Given the description of an element on the screen output the (x, y) to click on. 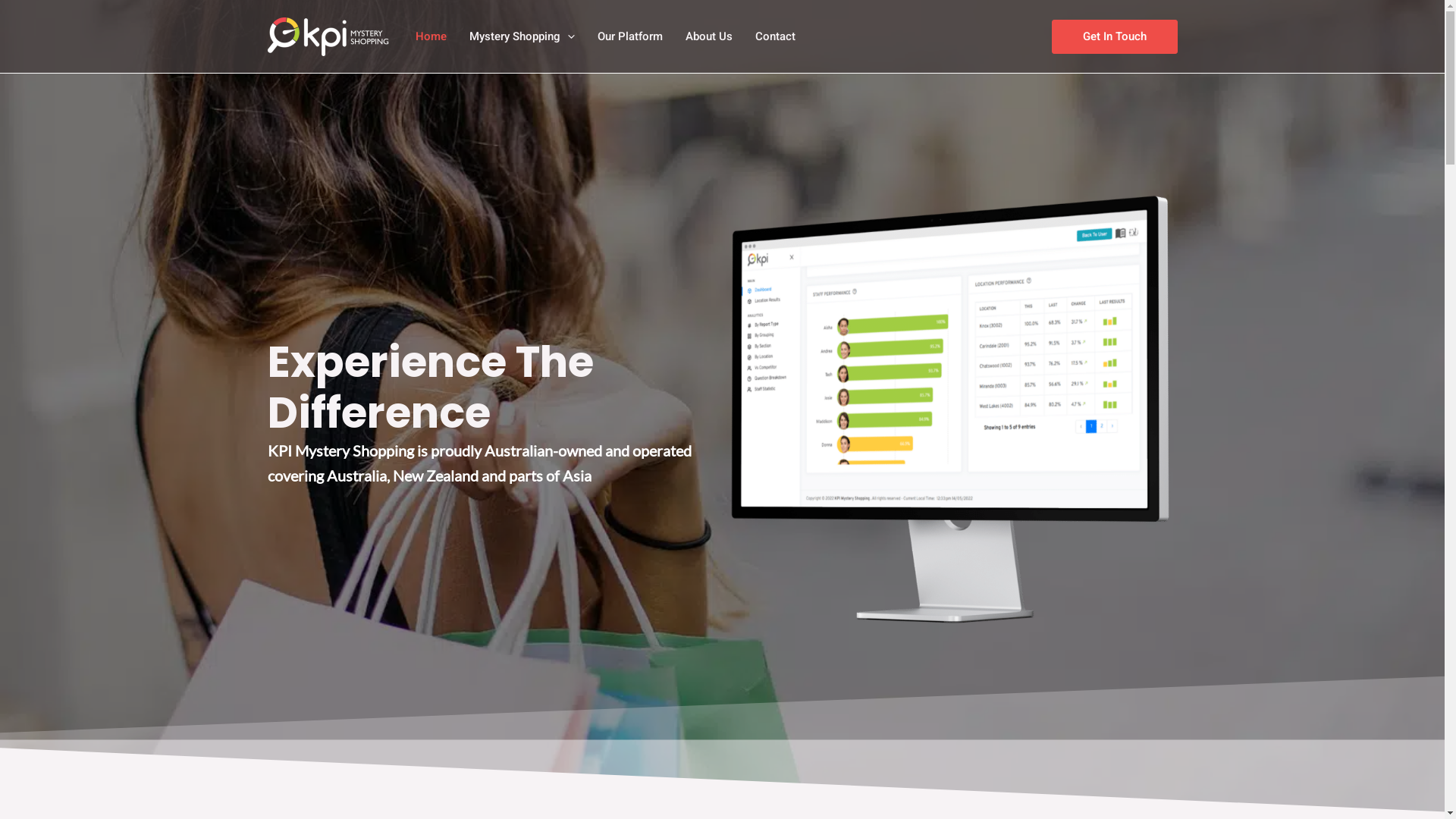
Mystery Shopping Element type: text (522, 36)
Home Element type: text (430, 36)
Our Platform Element type: text (629, 36)
Get In Touch Element type: text (1113, 36)
Contact Element type: text (774, 36)
About Us Element type: text (708, 36)
